Given the description of an element on the screen output the (x, y) to click on. 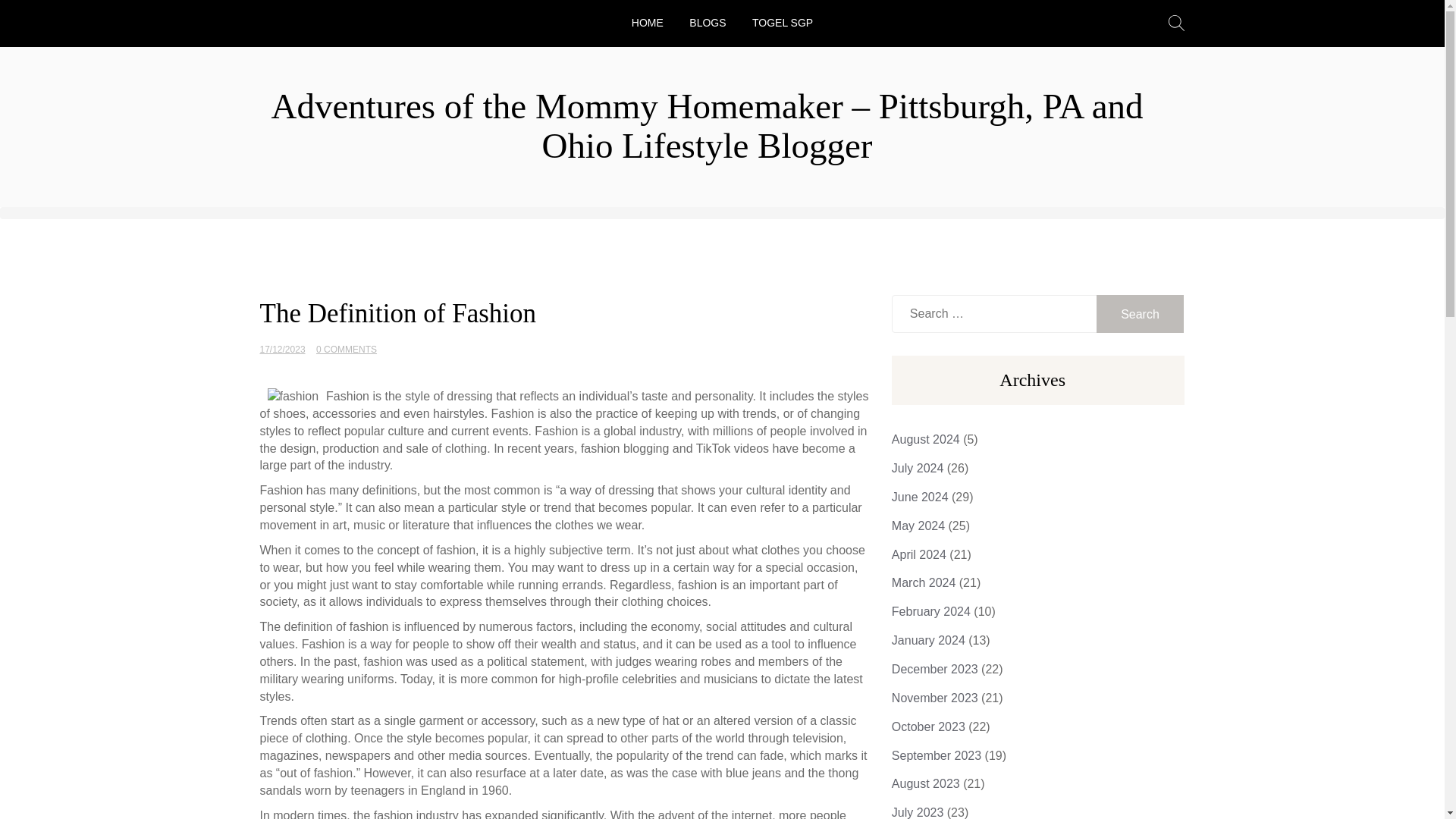
BLOGS (707, 20)
Togel SGP (782, 20)
July 2024 (917, 468)
March 2024 (923, 582)
August 2023 (925, 783)
July 2023 (917, 812)
Blogs (707, 20)
November 2023 (934, 697)
October 2023 (928, 726)
Search (1140, 313)
